Given the description of an element on the screen output the (x, y) to click on. 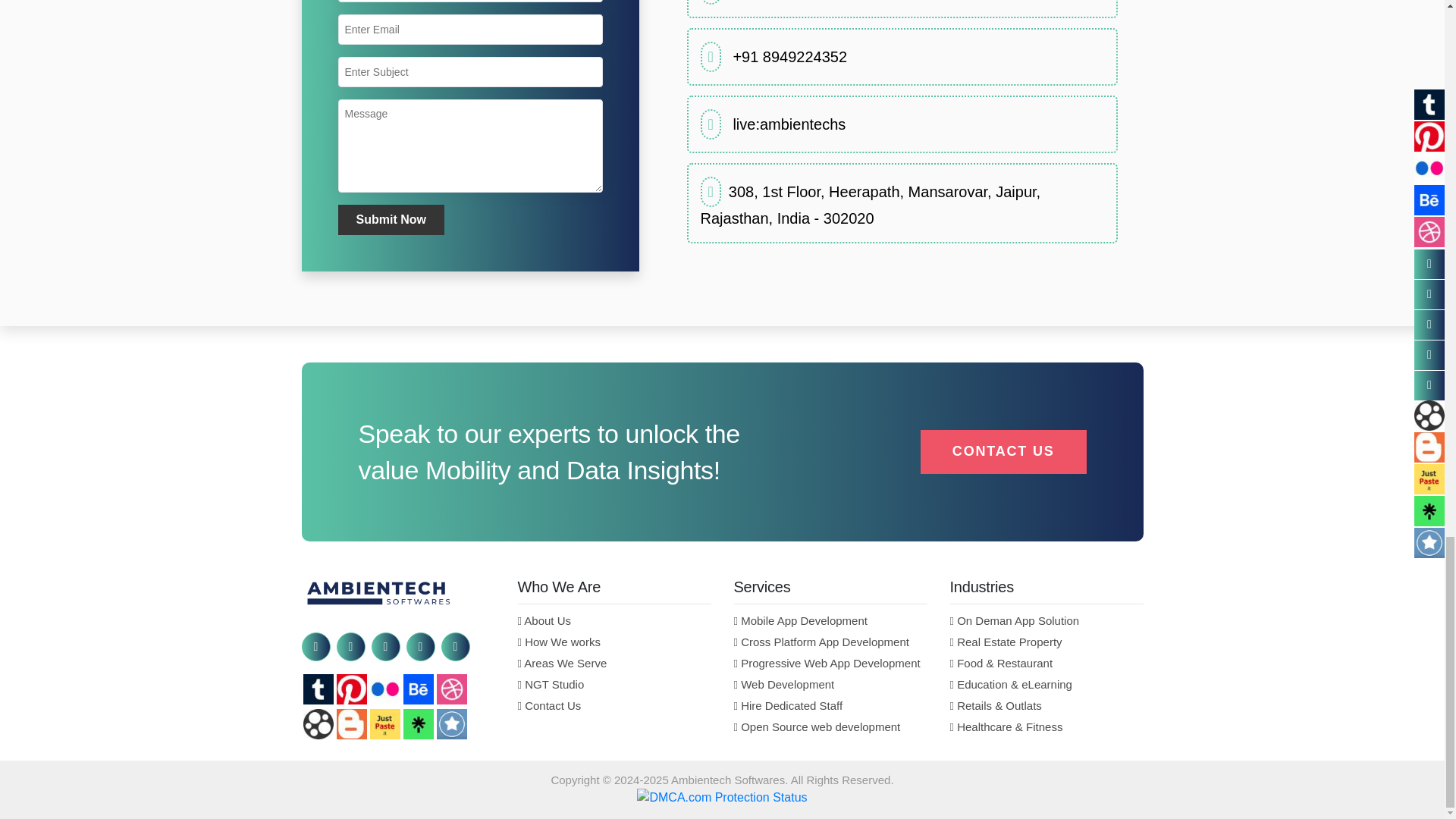
1 (788, 124)
Twitter Profile (350, 646)
Blogger Profile (351, 724)
Justpaste Profile (384, 724)
Dribble Profile (451, 689)
1 (789, 56)
Youtube Profile (455, 646)
Beacons Profile (317, 724)
Linktree Profile (418, 724)
Facebook Profile (315, 646)
